Given the description of an element on the screen output the (x, y) to click on. 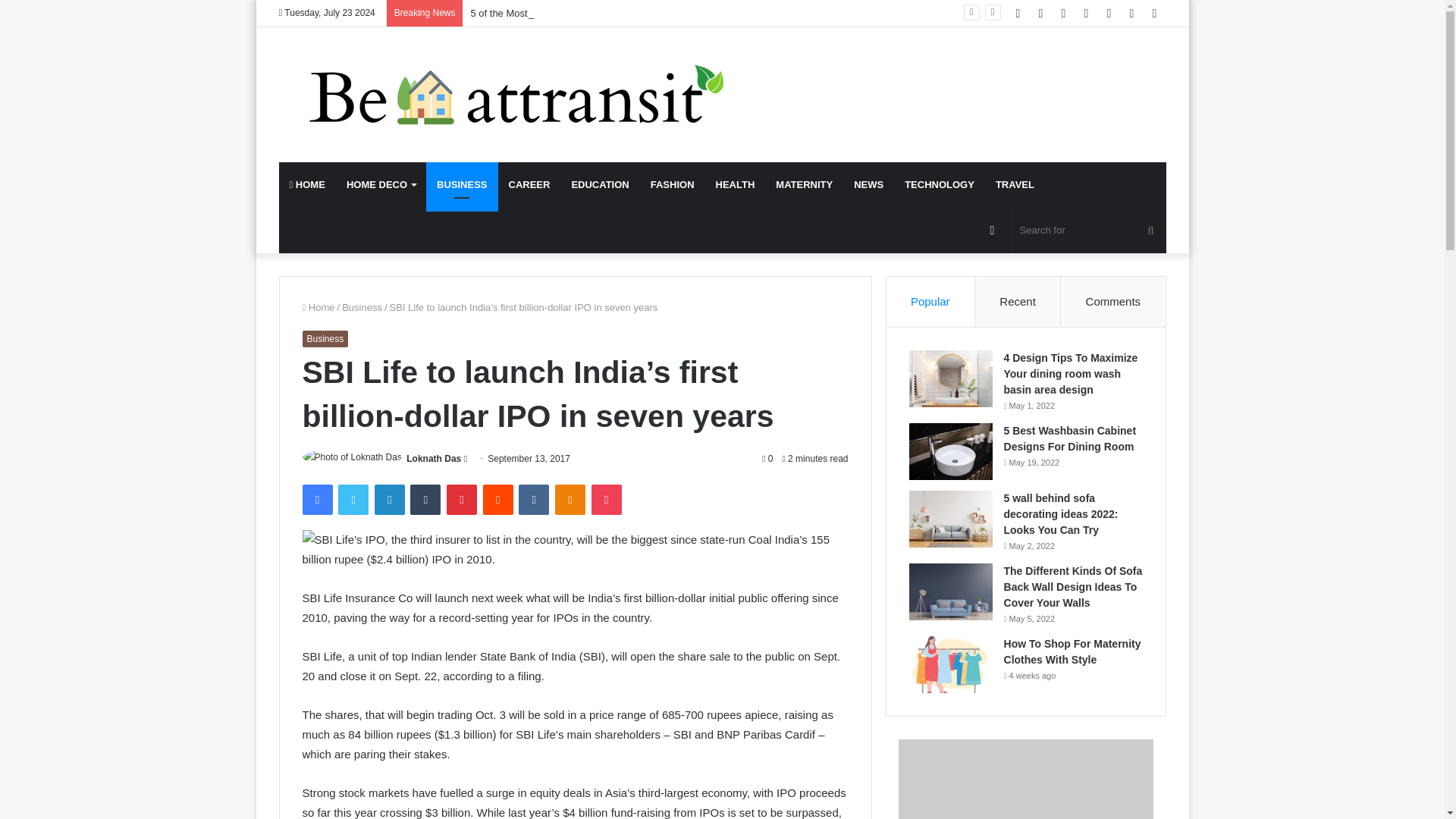
Facebook (316, 499)
Facebook (316, 499)
HOME (307, 185)
Beattransit (506, 94)
Tumblr (425, 499)
HEALTH (734, 185)
EDUCATION (599, 185)
Business (361, 307)
HOME DECO (381, 185)
Loknath Das (433, 458)
Pocket (606, 499)
LinkedIn (389, 499)
Pinterest (461, 499)
VKontakte (533, 499)
